Given the description of an element on the screen output the (x, y) to click on. 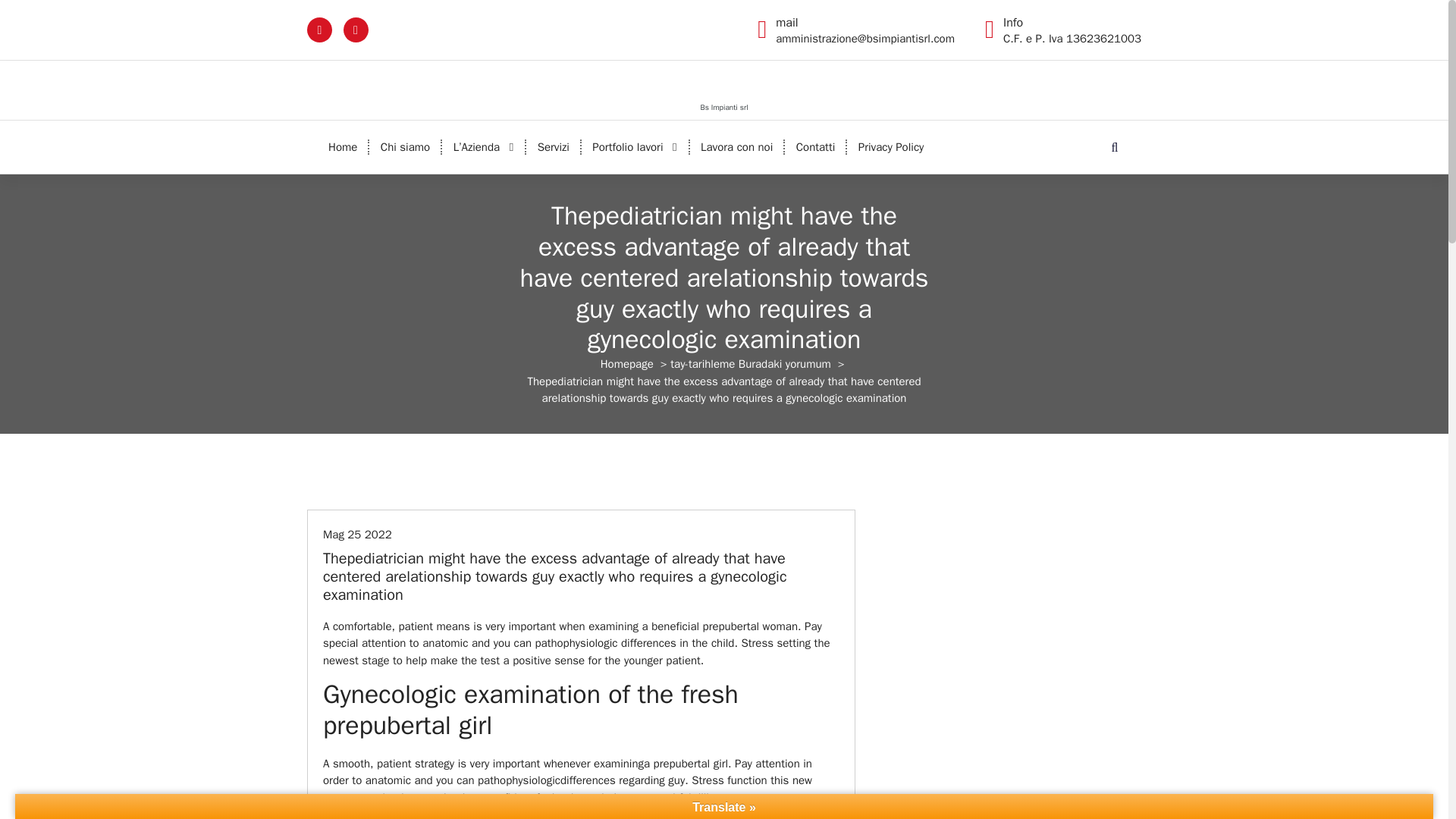
Lavora con noi (736, 146)
Servizi (552, 146)
Contatti (815, 146)
Privacy Policy (890, 146)
Homepage (626, 364)
Chi siamo (405, 146)
Home (342, 146)
Portfolio lavori (633, 146)
Chi siamo (405, 146)
Servizi (552, 146)
